Given the description of an element on the screen output the (x, y) to click on. 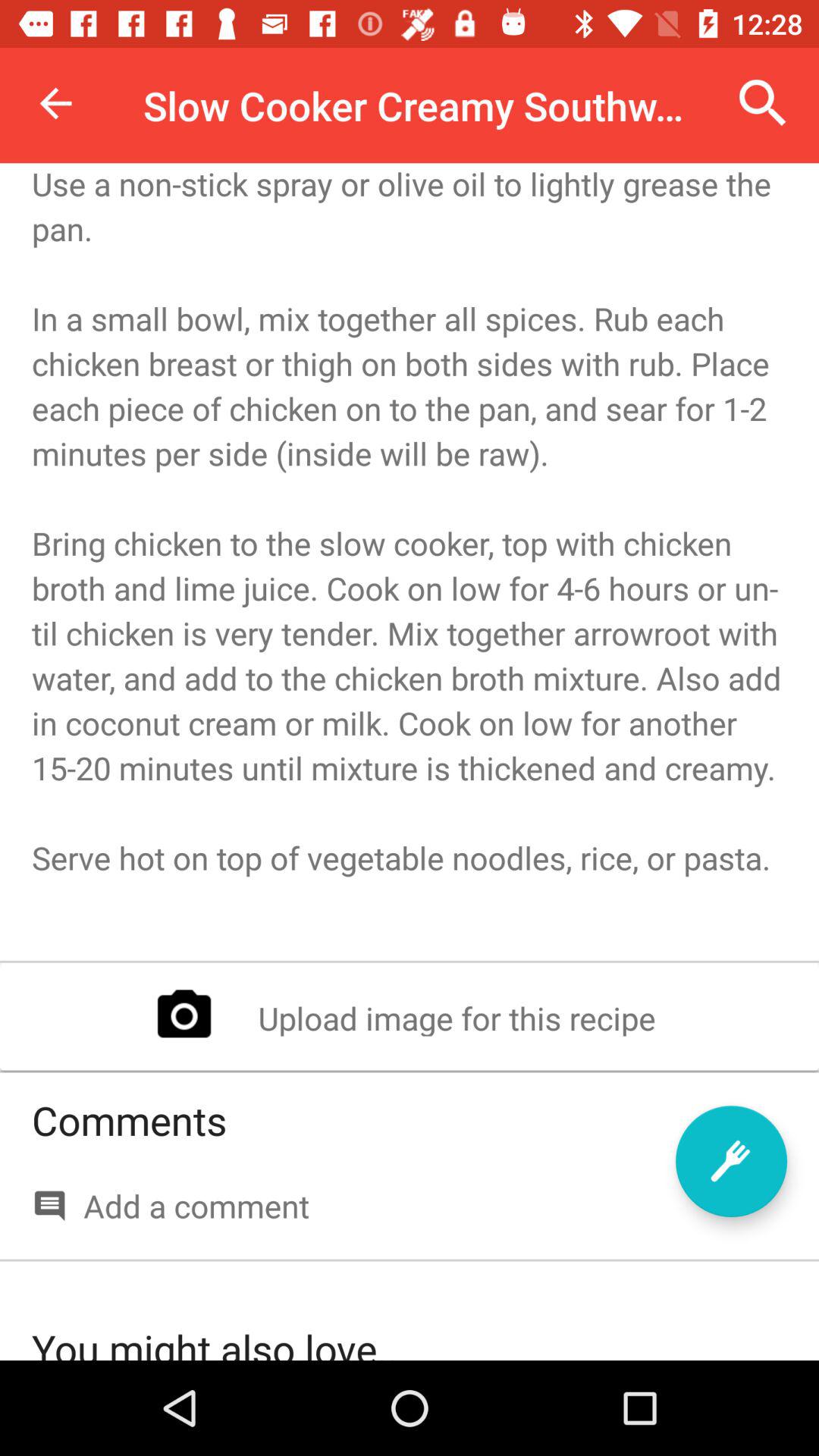
click the item next to the slow cooker creamy (55, 103)
